Given the description of an element on the screen output the (x, y) to click on. 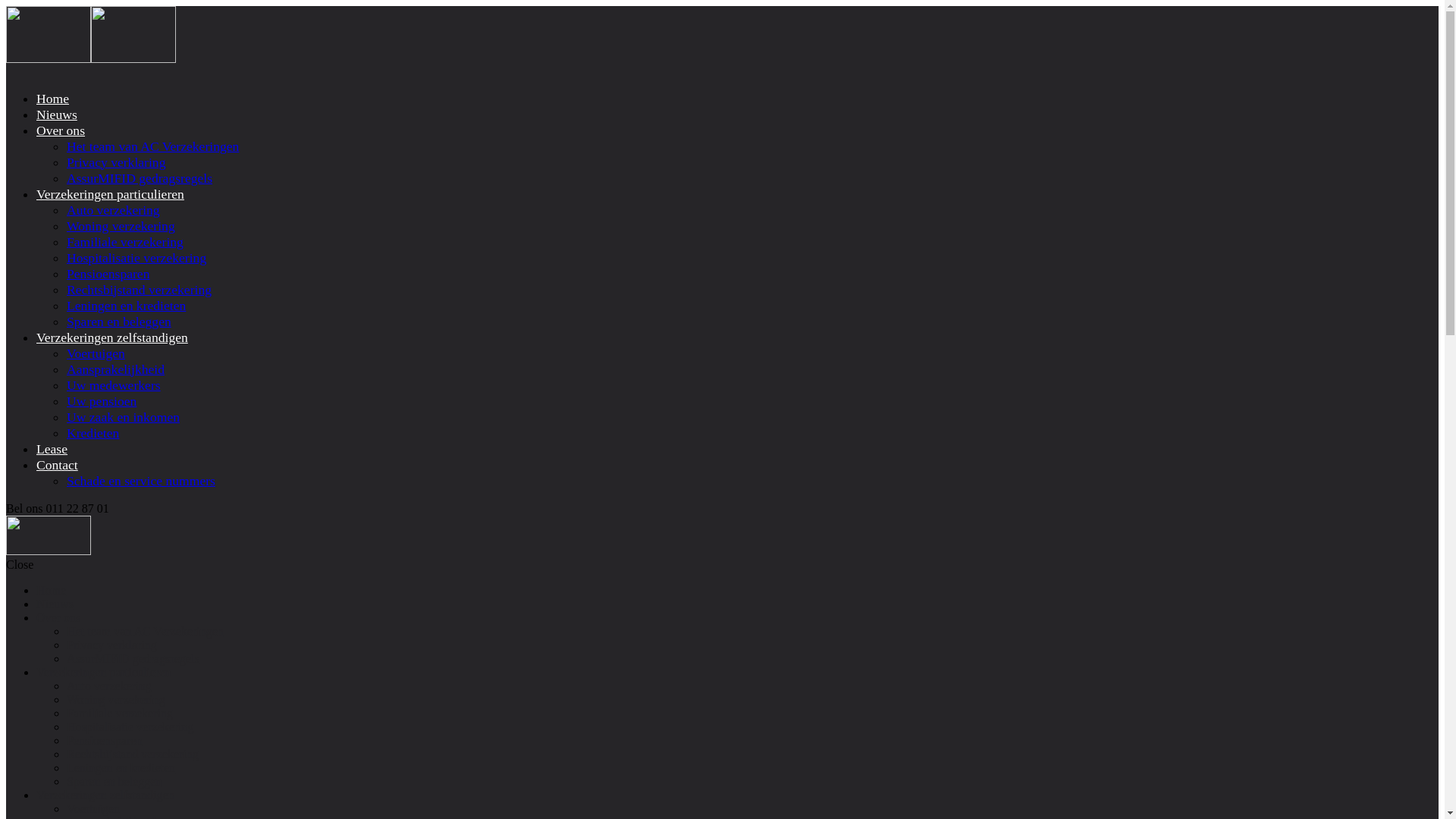
Familiale verzekering Element type: text (119, 712)
Home Element type: text (52, 98)
Woning verzekering Element type: text (120, 225)
Uw medewerkers Element type: text (113, 384)
Hospitalisatie verzekering Element type: text (130, 726)
Verzekeringen particulieren Element type: text (110, 193)
Privacy verklaring Element type: text (111, 644)
AssurMIFID gedragsregels Element type: text (132, 658)
Leningen en kredieten Element type: text (120, 767)
Uw pensioen Element type: text (101, 400)
Auto verzekering Element type: text (108, 685)
Woning verzekering Element type: text (115, 699)
Lease Element type: text (51, 448)
Auto verzekering Element type: text (113, 209)
Home Element type: text (50, 589)
Familiale verzekering Element type: text (124, 241)
Verzekeringen zelfstandigen Element type: text (112, 337)
Rechtsbijstand verzekering Element type: text (132, 753)
Sparen en beleggen Element type: text (118, 321)
Rechtsbijstand verzekering Element type: text (138, 289)
Kredieten Element type: text (92, 432)
Hospitalisatie verzekering Element type: text (136, 257)
Schade en service nummers Element type: text (140, 480)
Voertuigen Element type: text (95, 352)
Pensioensparen Element type: text (107, 273)
Het team van AC Verzekeringen Element type: text (144, 630)
Verzekeringen zelfstandigen Element type: text (105, 794)
Leningen en kredieten Element type: text (125, 305)
Aansprakelijkheid Element type: text (115, 368)
Verzekeringen particulieren Element type: text (103, 671)
AssurMIFID gedragsregels Element type: text (139, 177)
Over ons Element type: text (60, 130)
Contact Element type: text (57, 464)
Pensioensparen Element type: text (104, 740)
Nieuws Element type: text (56, 114)
Voertuigen Element type: text (92, 808)
Het team van AC Verzekeringen Element type: text (152, 145)
Uw zaak en inkomen Element type: text (122, 416)
Over ons Element type: text (58, 617)
Sparen en beleggen Element type: text (113, 781)
Privacy verklaring Element type: text (115, 161)
Nieuws Element type: text (54, 603)
